Given the description of an element on the screen output the (x, y) to click on. 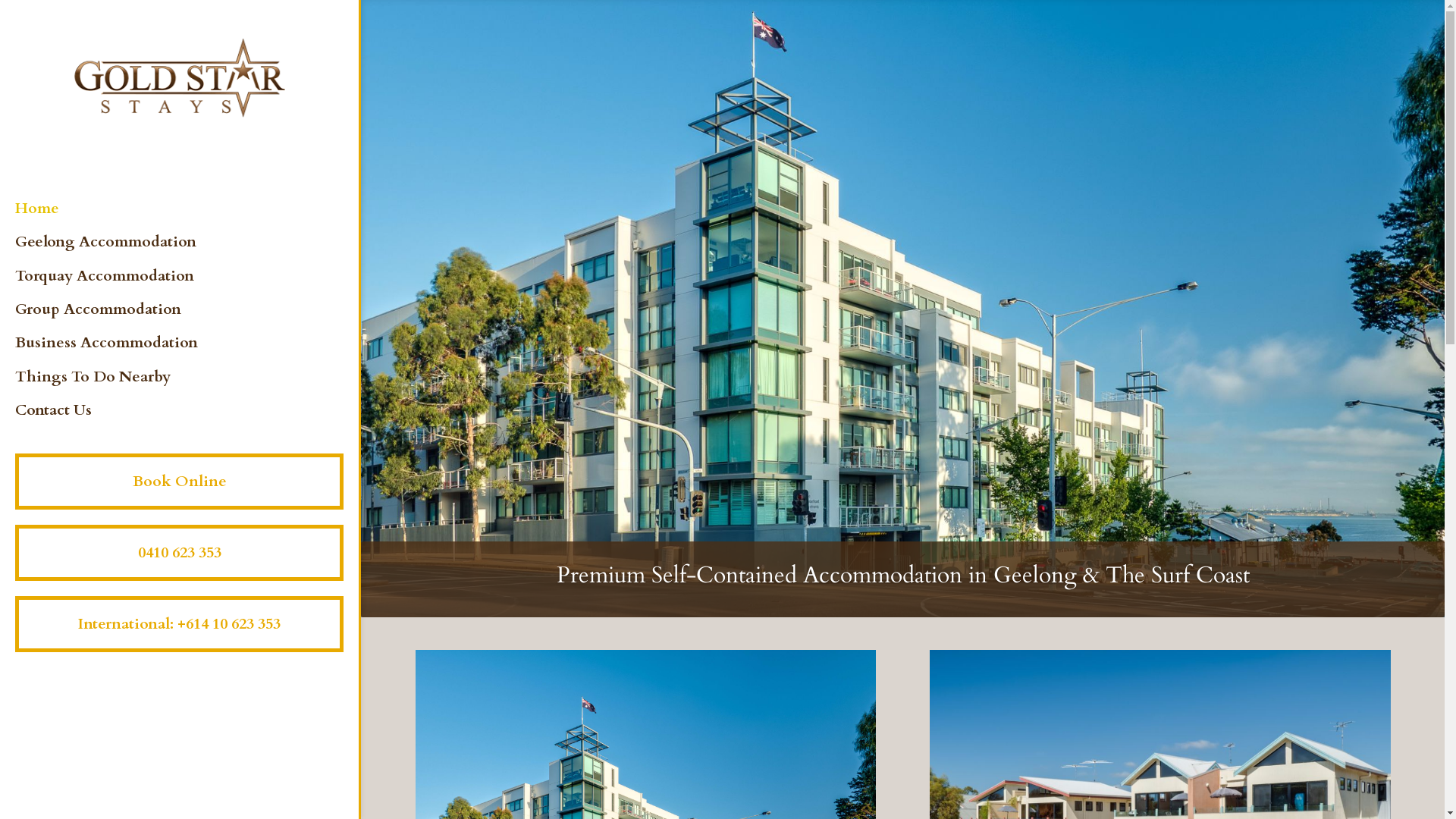
Contact Us Element type: text (194, 421)
0410 623 353 Element type: text (179, 552)
Things To Do Nearby Element type: text (194, 387)
Home Element type: text (194, 219)
Torquay Accommodation Element type: text (194, 287)
Business Accommodation Element type: text (194, 353)
Group Accommodation Element type: text (194, 320)
Book Online Element type: text (179, 481)
Geelong Accommodation Element type: text (194, 252)
International: +614 10 623 353 Element type: text (179, 624)
